Given the description of an element on the screen output the (x, y) to click on. 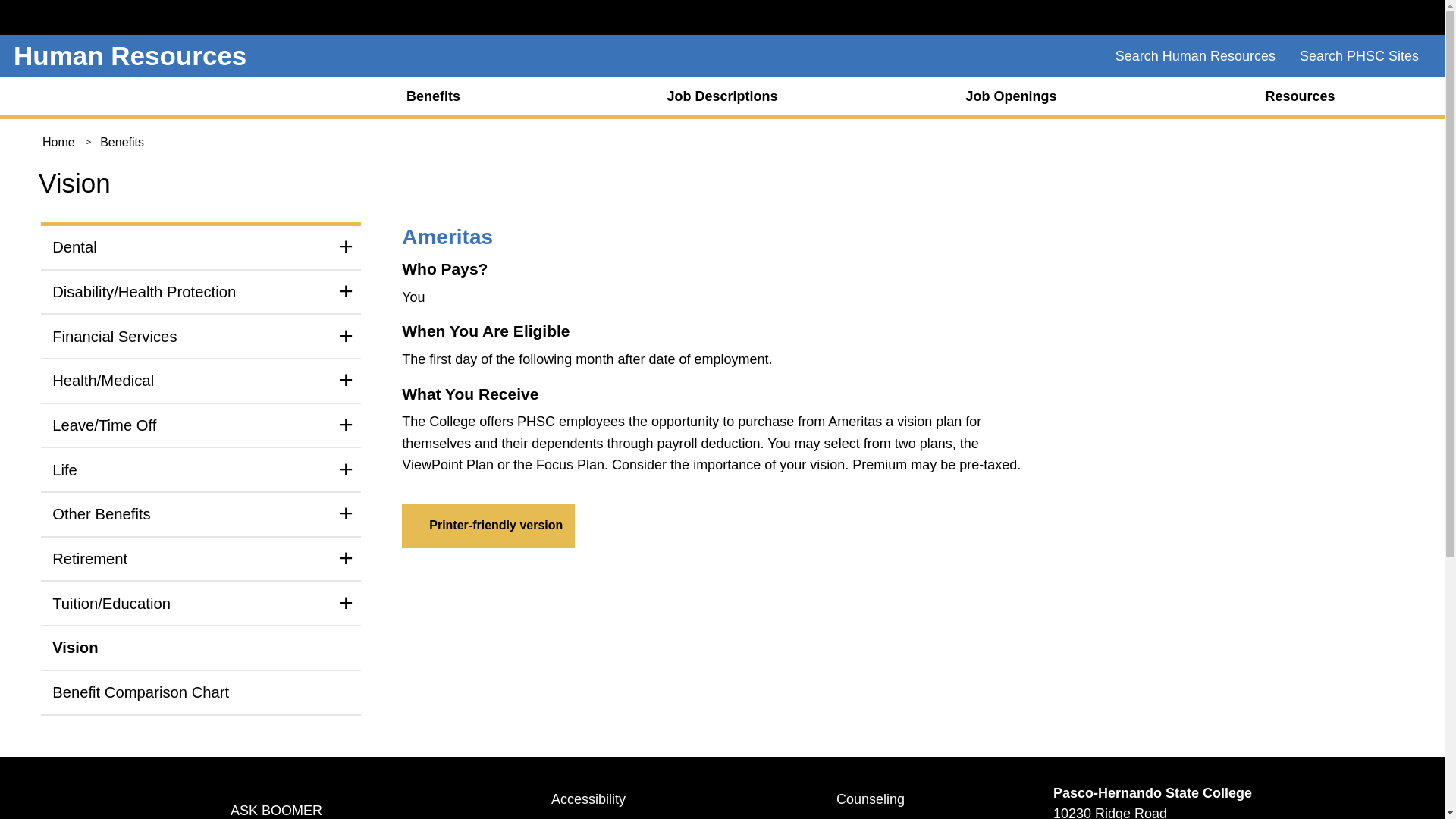
Directory (619, 816)
Benefits (122, 141)
Benefit Comparison Chart (200, 692)
Skip to main content (721, 4)
Human Resources (129, 55)
Life (200, 469)
Printer-friendly version (488, 525)
Dental (200, 247)
Search PHSC Sites (1359, 55)
Vision (200, 647)
